Given the description of an element on the screen output the (x, y) to click on. 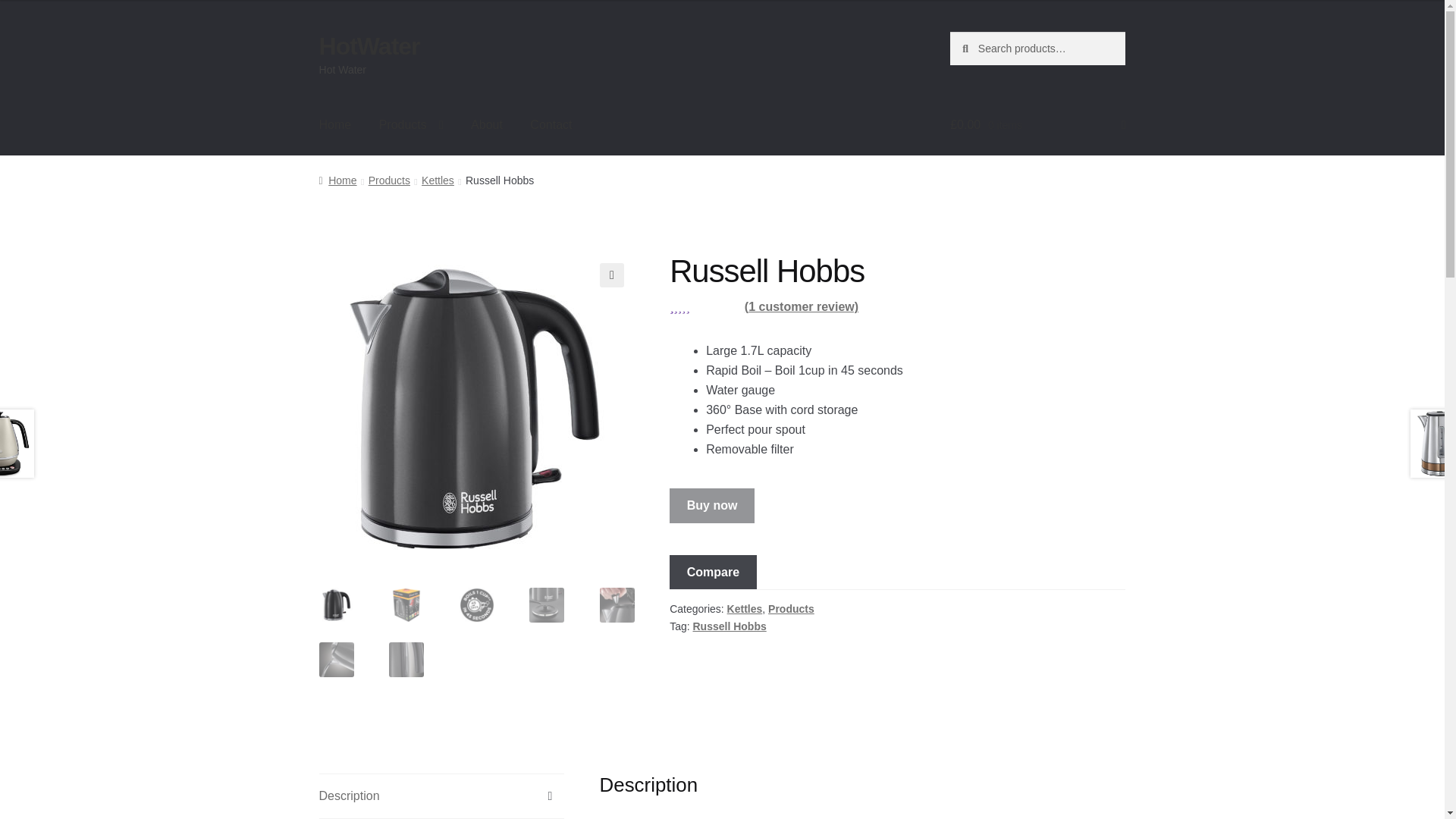
Kettles (438, 180)
Products (389, 180)
View your shopping basket (1037, 124)
Home (337, 180)
Description (441, 795)
Buy now (711, 505)
Products (410, 124)
HotWater (369, 45)
Russell Hobbs (729, 625)
Products (790, 608)
About (486, 124)
Contact (550, 124)
Compare (713, 572)
Home (335, 124)
Kettles (744, 608)
